Given the description of an element on the screen output the (x, y) to click on. 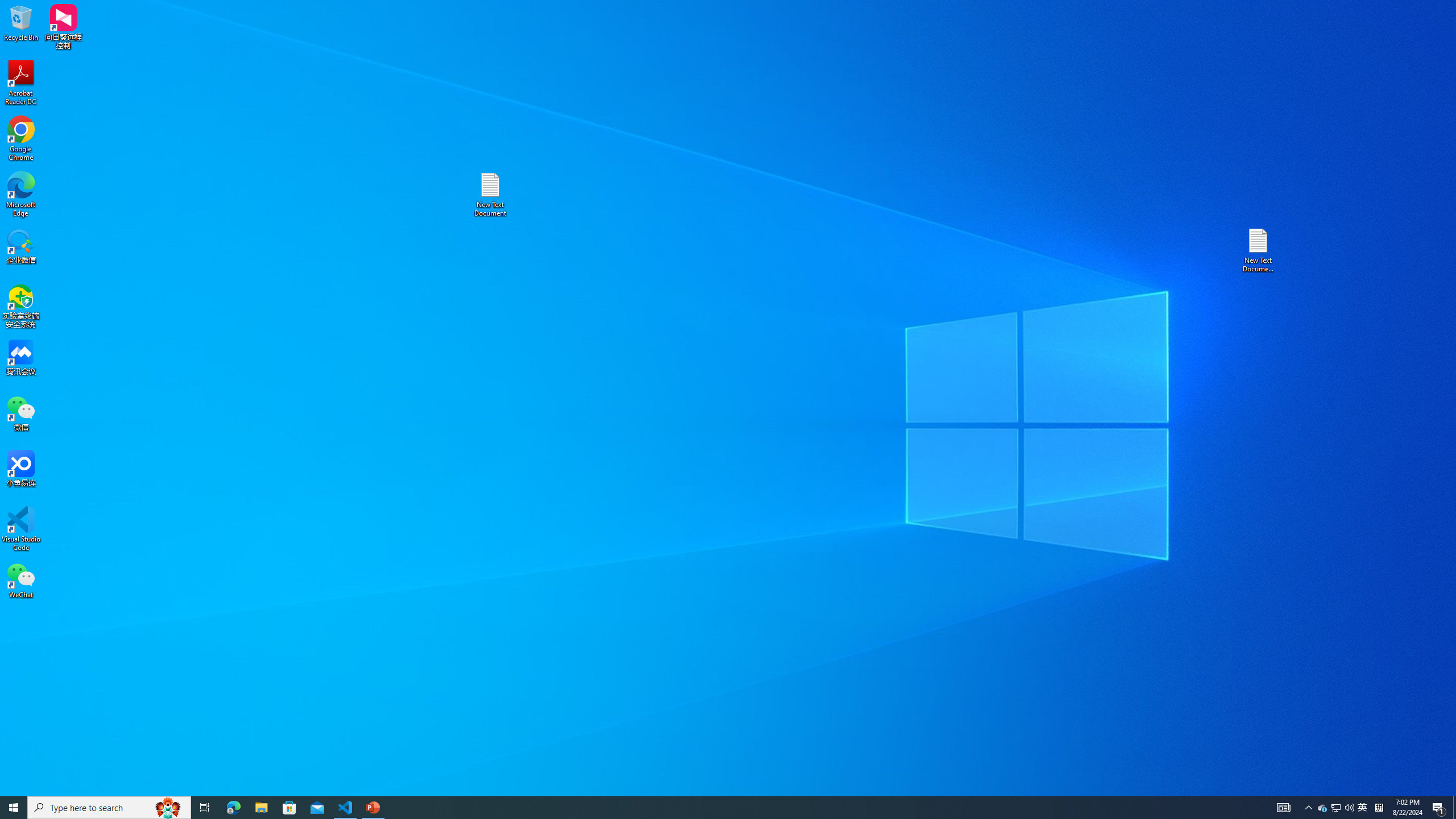
New Text Document (2) (1258, 250)
Microsoft Edge (21, 194)
Recycle Bin (21, 22)
WeChat (21, 580)
Visual Studio Code (21, 528)
New Text Document (489, 194)
Google Chrome (21, 138)
Acrobat Reader DC (21, 82)
